Given the description of an element on the screen output the (x, y) to click on. 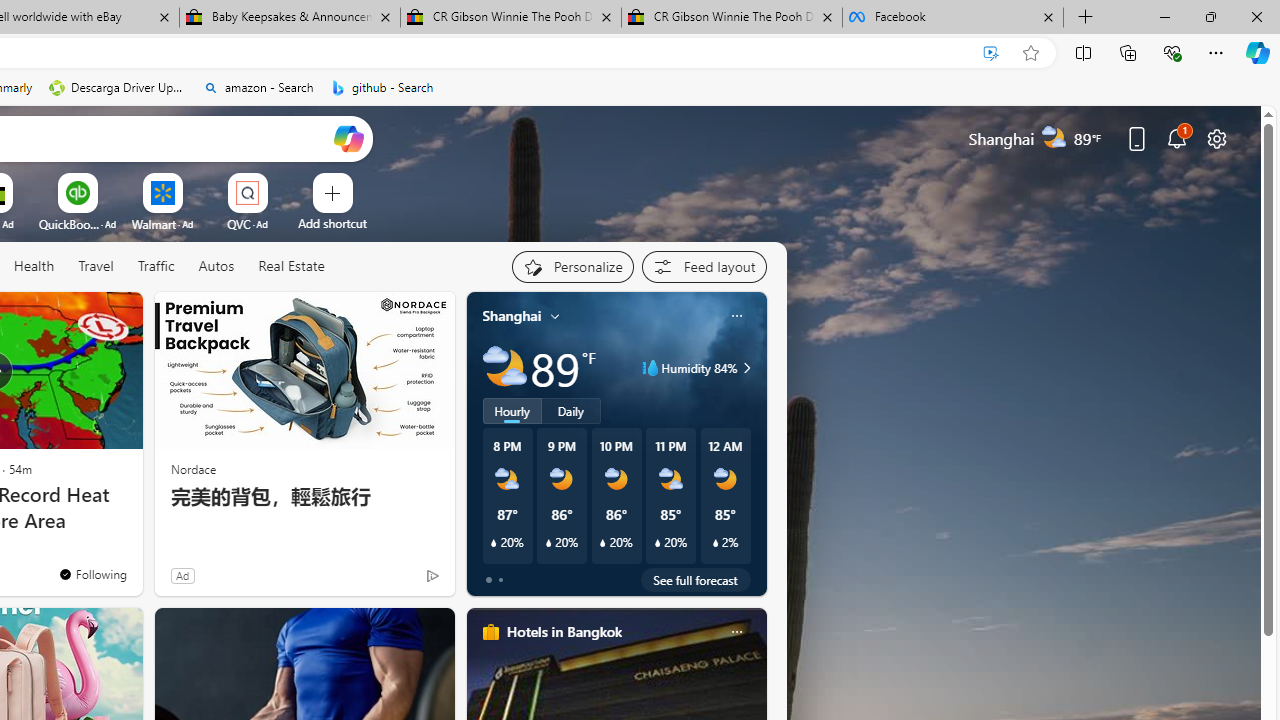
Travel (95, 267)
Travel (95, 265)
Hourly (511, 411)
Traffic (155, 265)
Add a site (332, 223)
Partly cloudy (504, 368)
Health (33, 267)
